Given the description of an element on the screen output the (x, y) to click on. 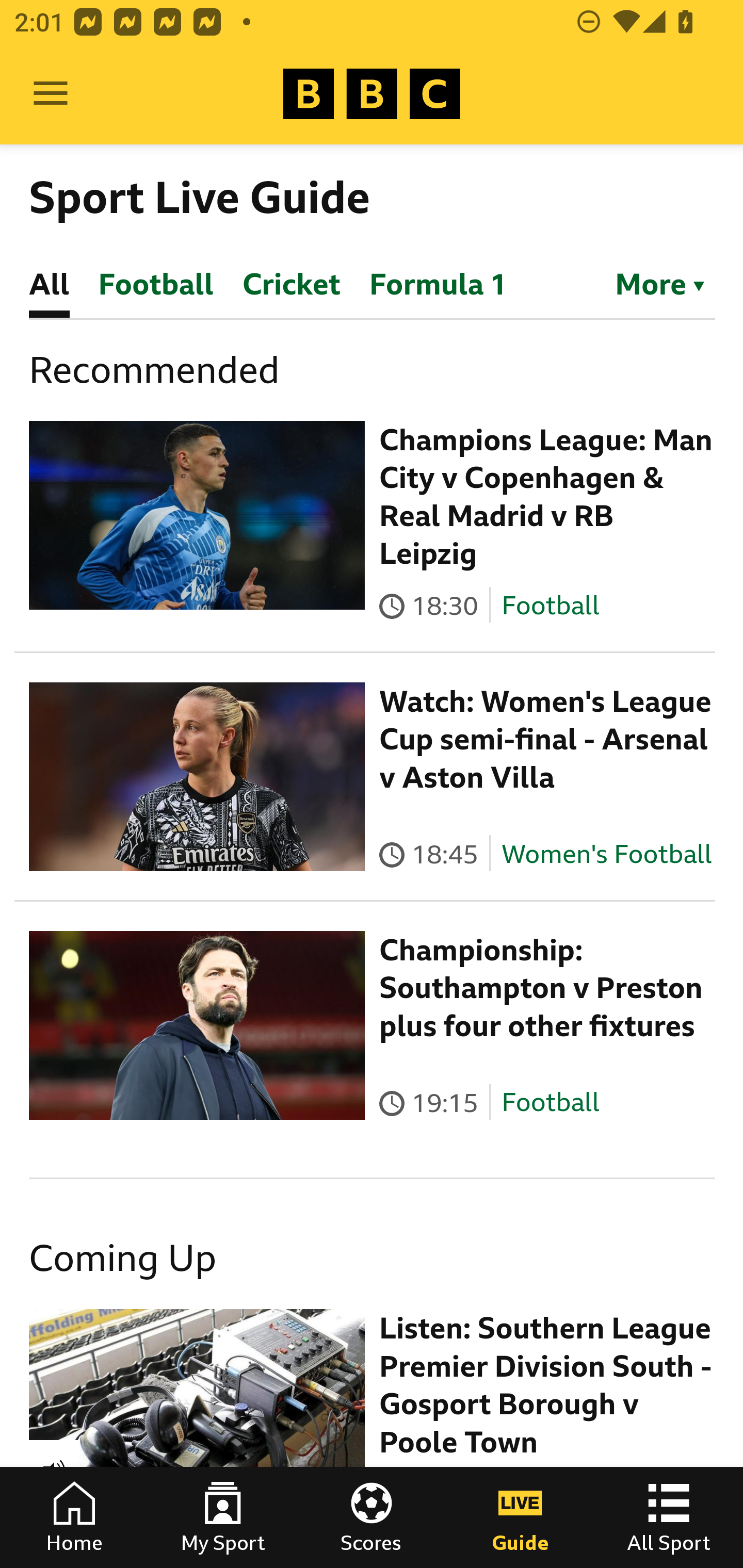
Open Menu (50, 93)
Football (550, 604)
Women's Football (606, 853)
Football (550, 1102)
Home (74, 1517)
My Sport (222, 1517)
Scores (371, 1517)
All Sport (668, 1517)
